Given the description of an element on the screen output the (x, y) to click on. 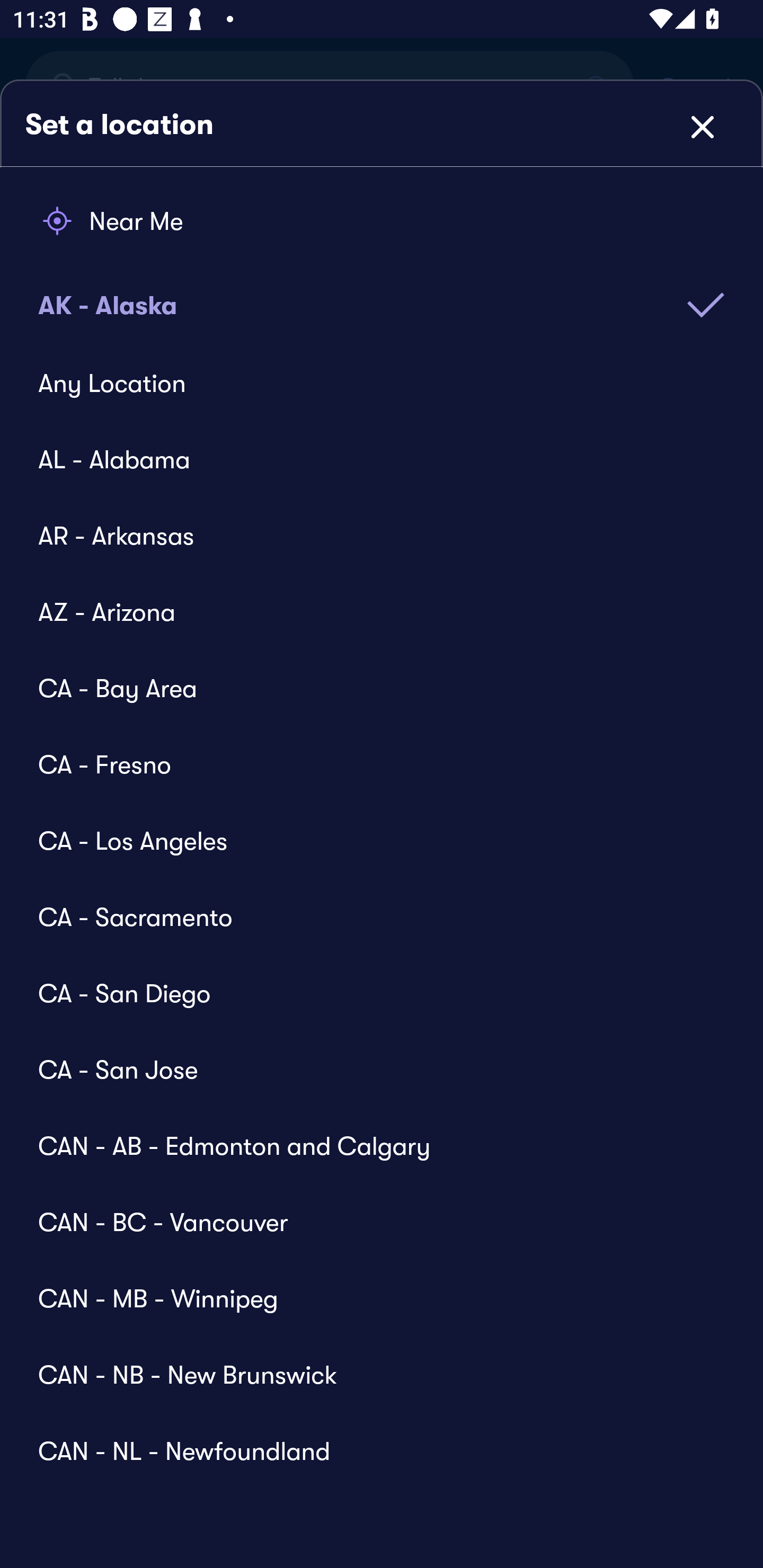
Near Me (381, 220)
AK - Alaska (381, 292)
Any Location (368, 382)
AL - Alabama (368, 459)
AR - Arkansas (368, 535)
AZ - Arizona (368, 611)
CA - Bay Area (368, 687)
CA - Fresno (368, 763)
CA - Los Angeles (368, 840)
CA - Sacramento (368, 916)
CA - San Diego (368, 992)
CA - San Jose (368, 1069)
CAN - AB - Edmonton and Calgary (368, 1145)
CAN - BC - Vancouver (368, 1221)
CAN - MB - Winnipeg (368, 1297)
CAN - NB - New Brunswick (368, 1373)
CAN - NL - Newfoundland (368, 1440)
